Given the description of an element on the screen output the (x, y) to click on. 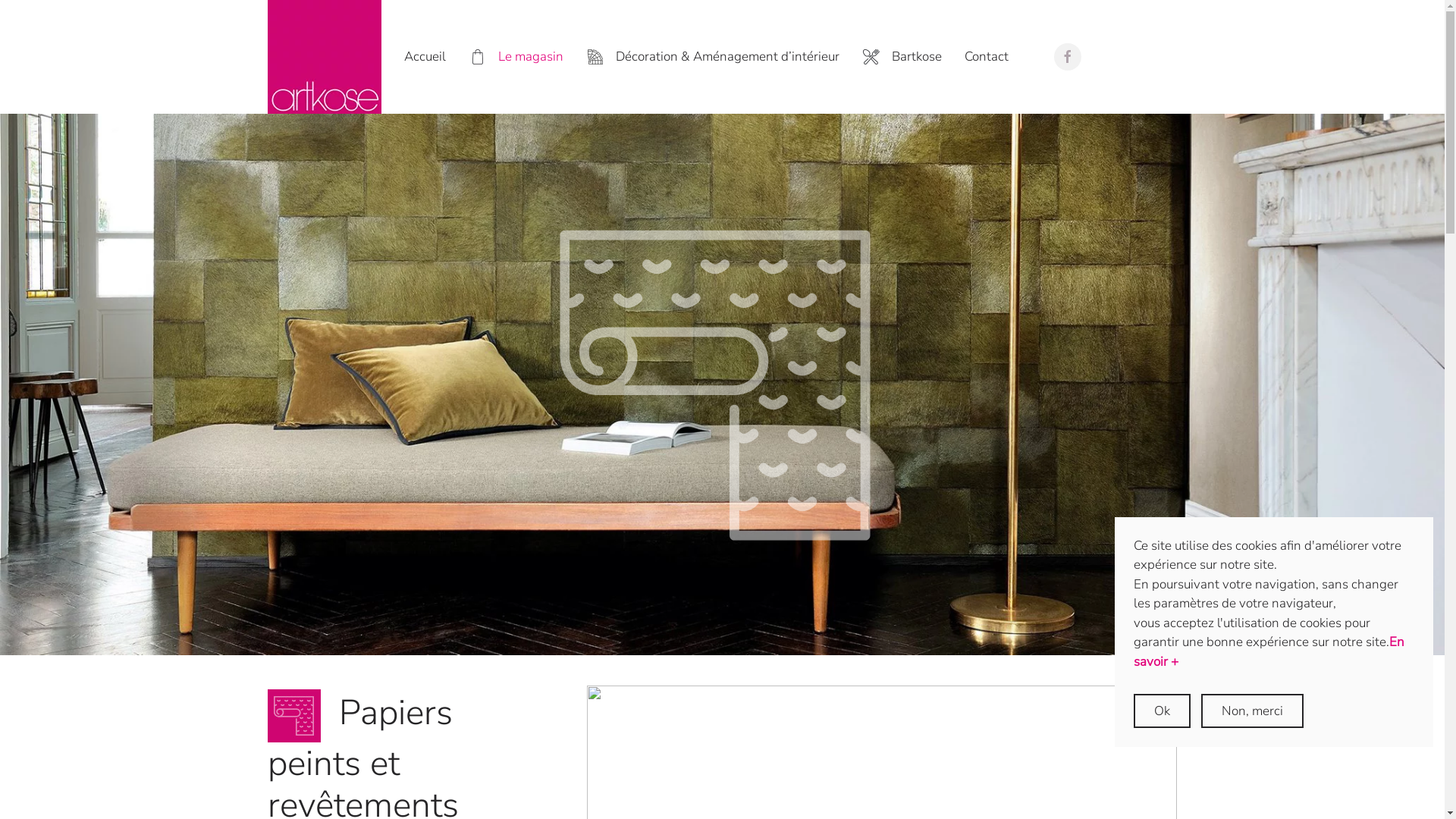
Accueil Element type: text (424, 56)
Ok Element type: text (1161, 710)
En savoir + Element type: text (1268, 651)
Bartkose Element type: text (901, 56)
Contact Element type: text (986, 56)
Non, merci Element type: text (1252, 710)
Le magasin Element type: text (515, 56)
